Given the description of an element on the screen output the (x, y) to click on. 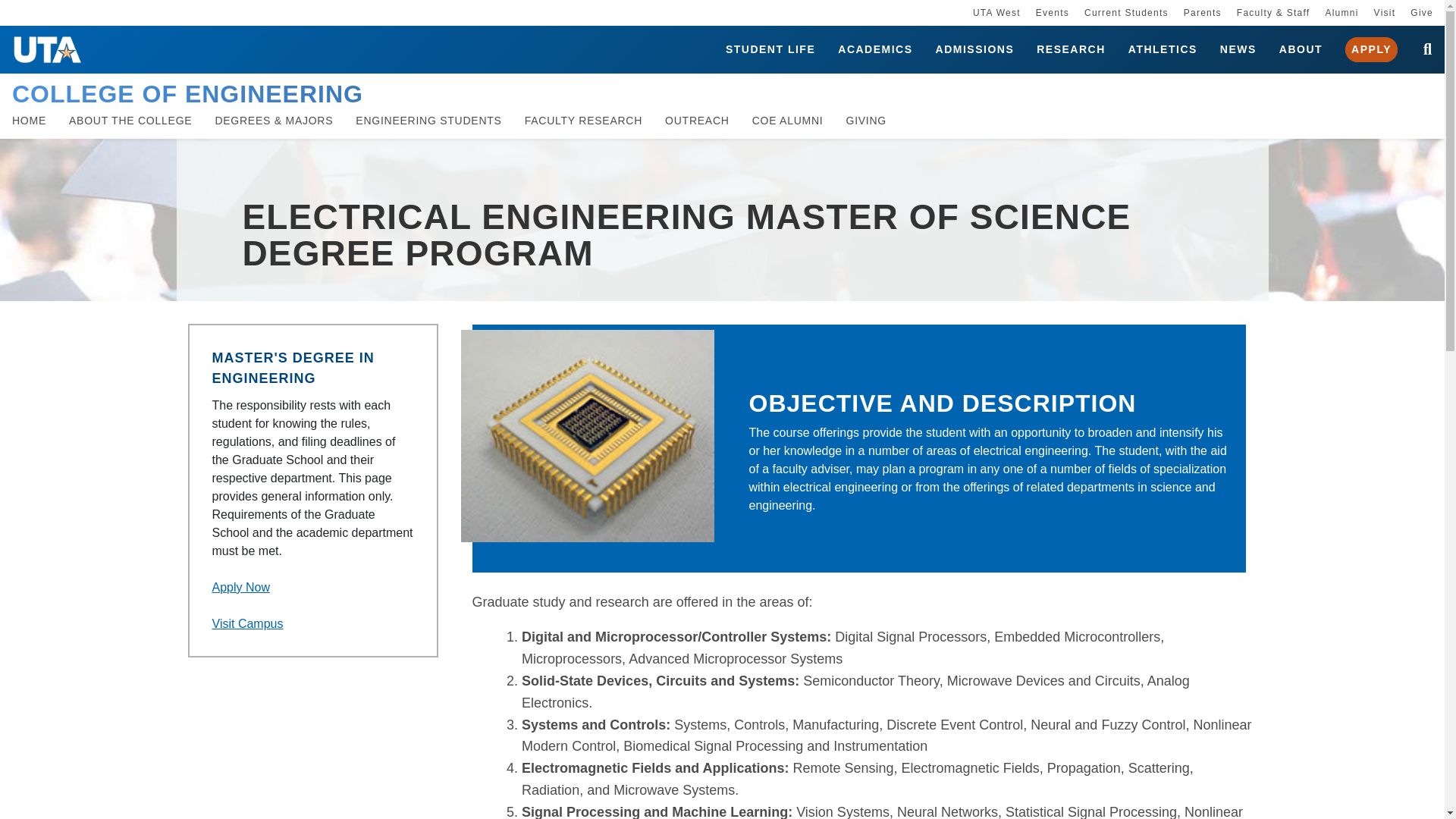
ACADEMICS (875, 49)
UTA West (996, 12)
Events (1051, 12)
Events (1051, 12)
Current Students (1126, 12)
Alumni (1341, 12)
Alumni (1341, 12)
STUDENT LIFE (770, 49)
Current Students (1126, 12)
U T A West (996, 12)
